Given the description of an element on the screen output the (x, y) to click on. 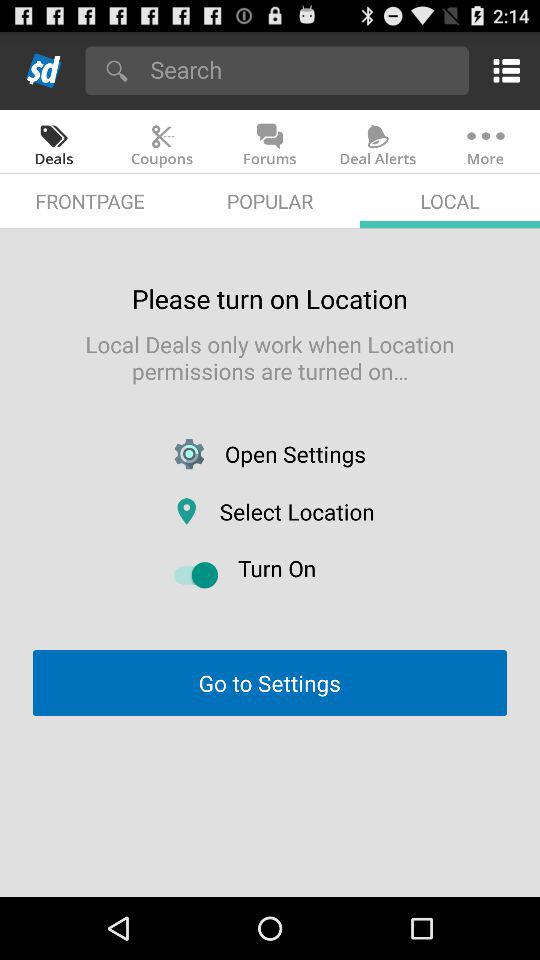
menu (502, 70)
